Given the description of an element on the screen output the (x, y) to click on. 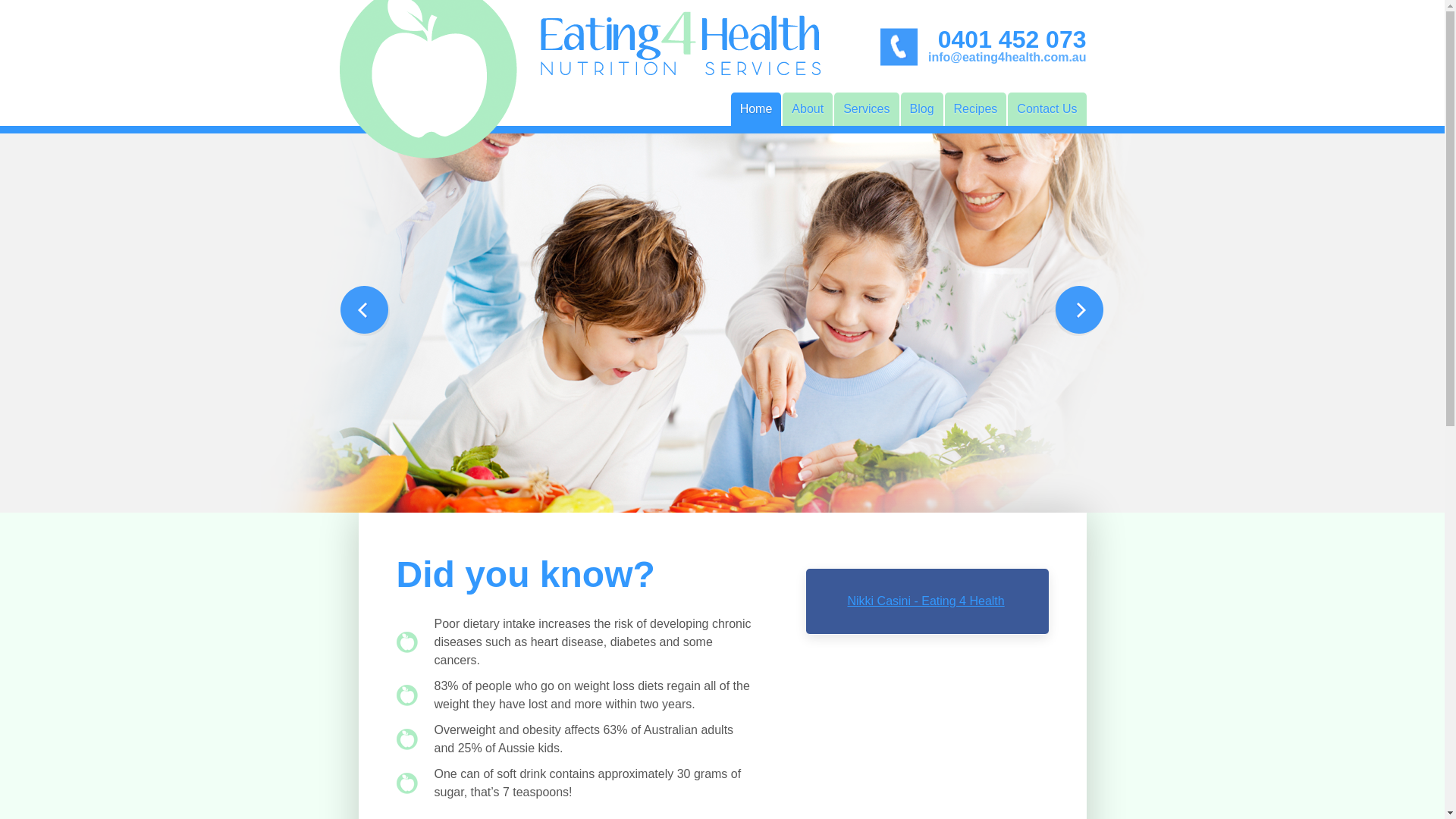
Recipes Element type: text (975, 108)
Contact Us Element type: text (1046, 108)
About Element type: text (807, 108)
Blog Element type: text (921, 108)
Nikki Casini - Eating 4 Health Element type: text (925, 600)
Home Element type: text (756, 108)
Services Element type: text (866, 108)
